Given the description of an element on the screen output the (x, y) to click on. 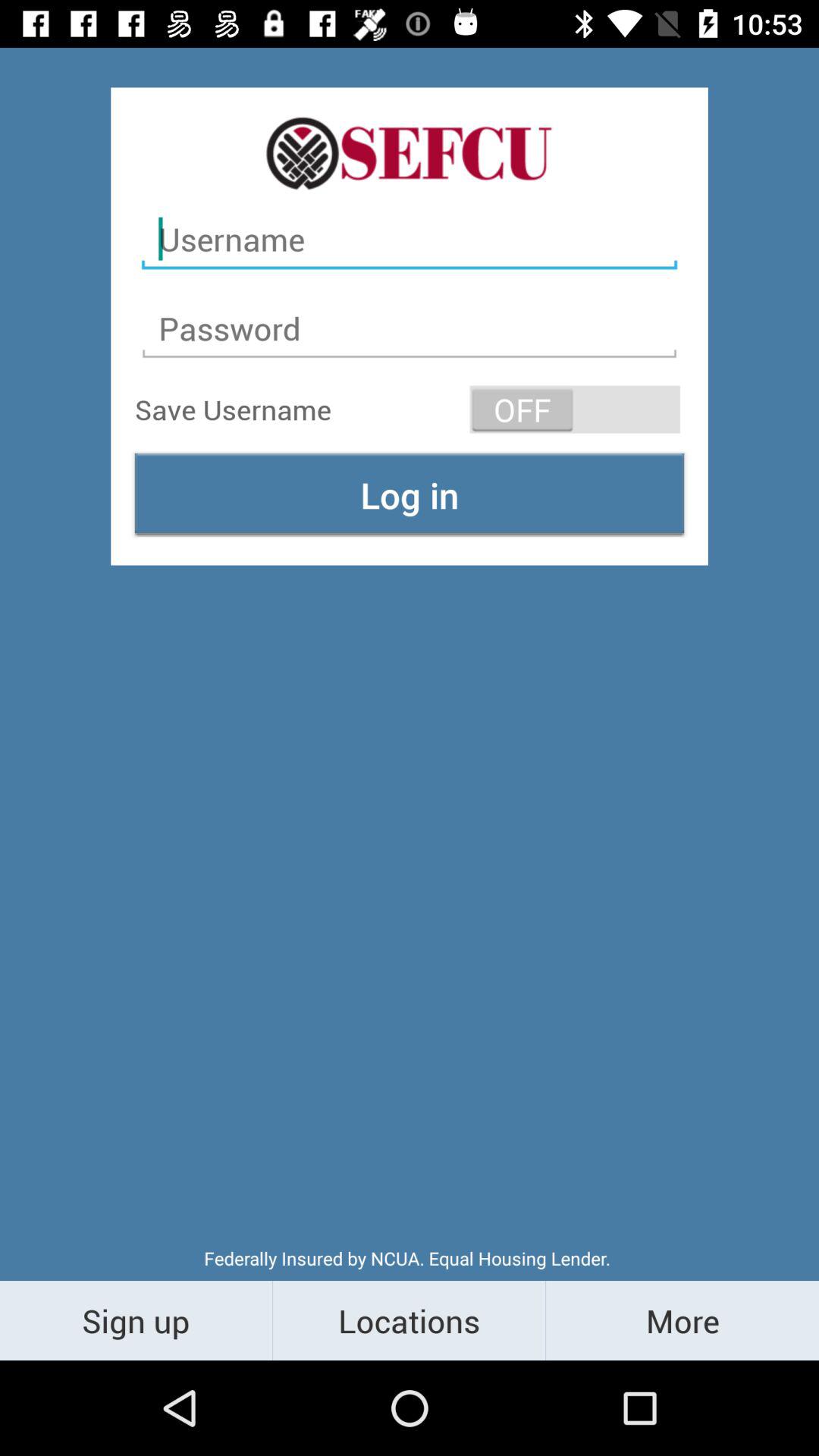
choose the log in item (409, 494)
